Given the description of an element on the screen output the (x, y) to click on. 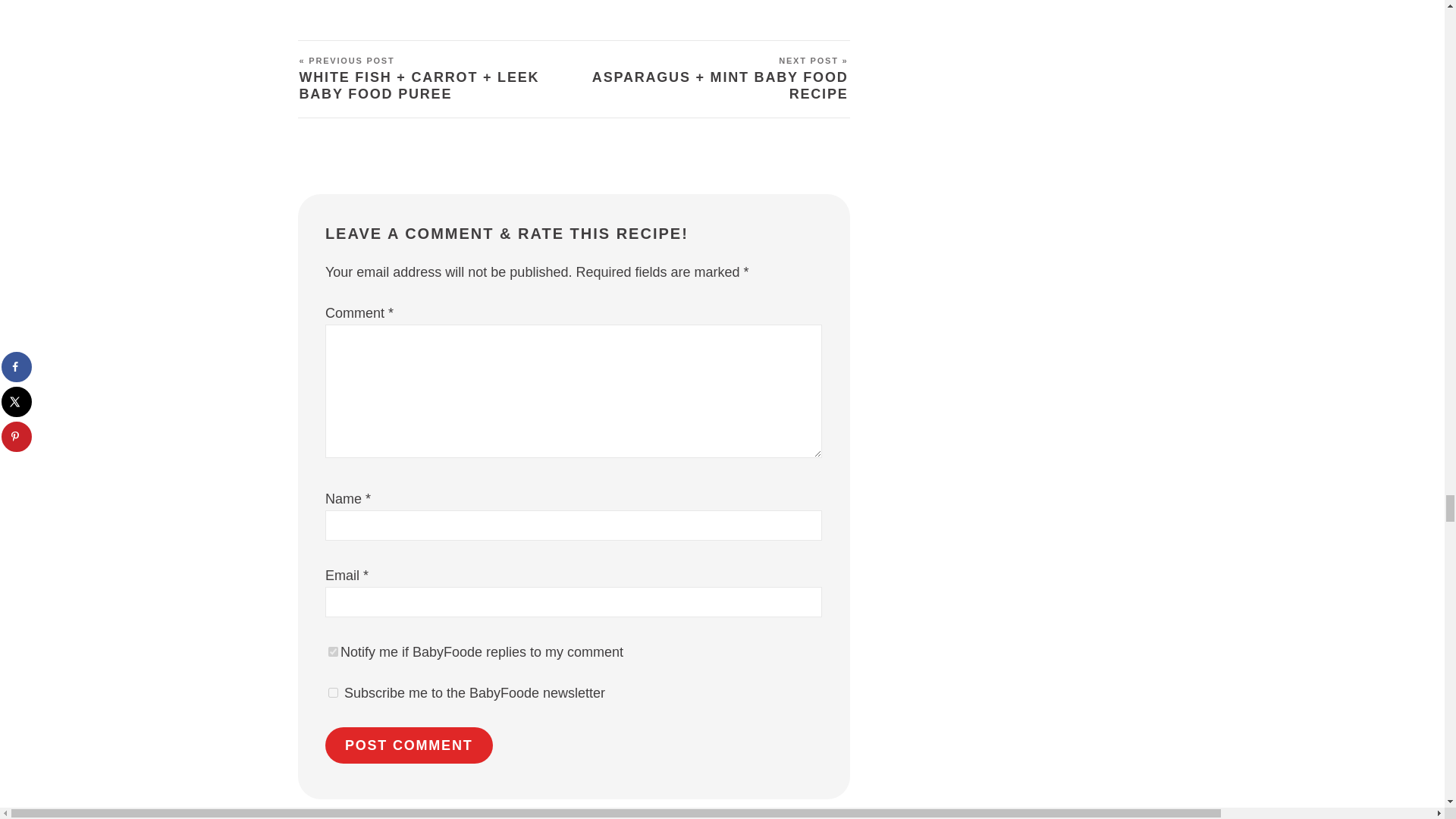
on (333, 651)
1 (333, 692)
Post Comment (408, 745)
